Given the description of an element on the screen output the (x, y) to click on. 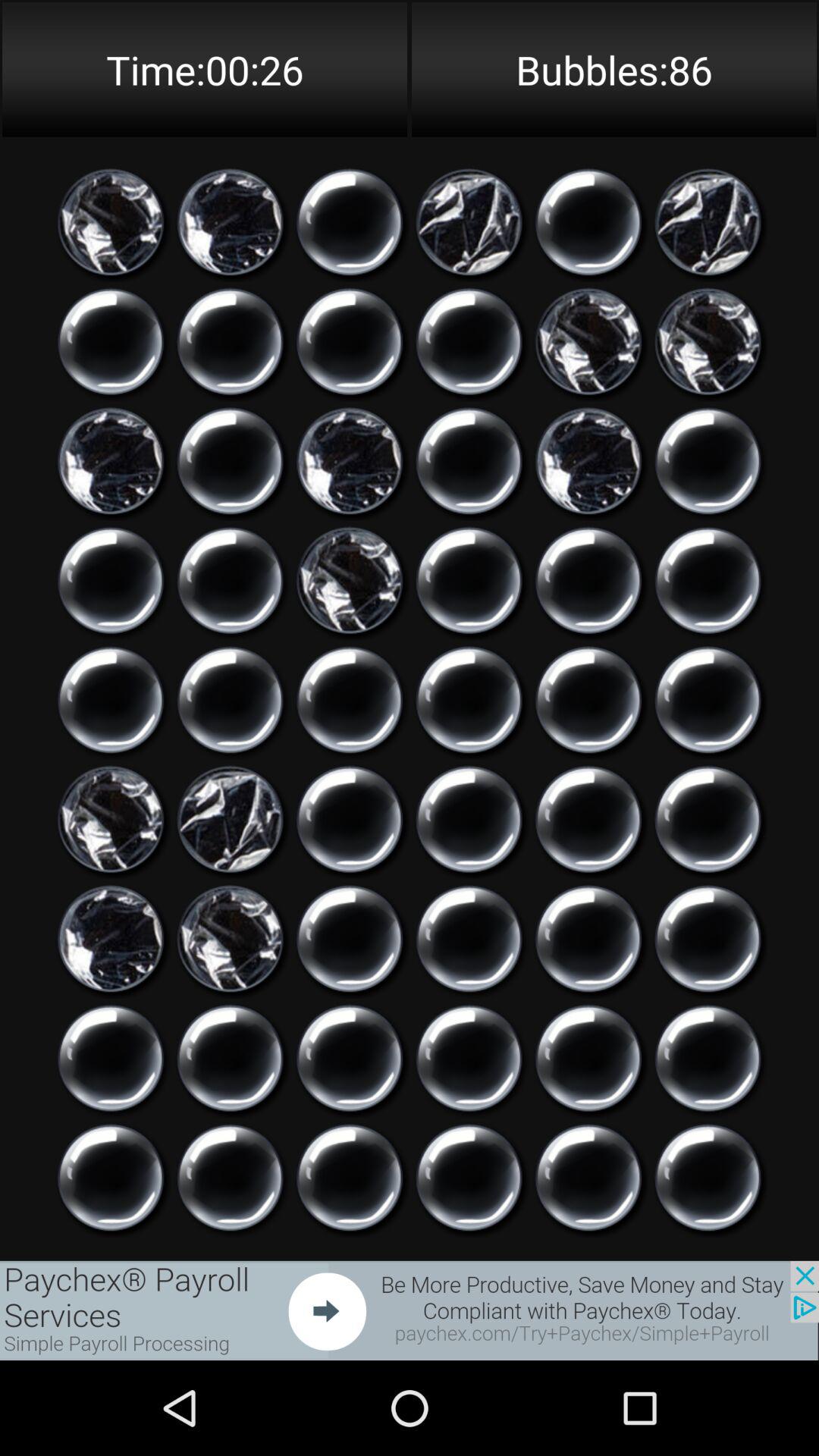
pop virtual bubble (349, 341)
